Given the description of an element on the screen output the (x, y) to click on. 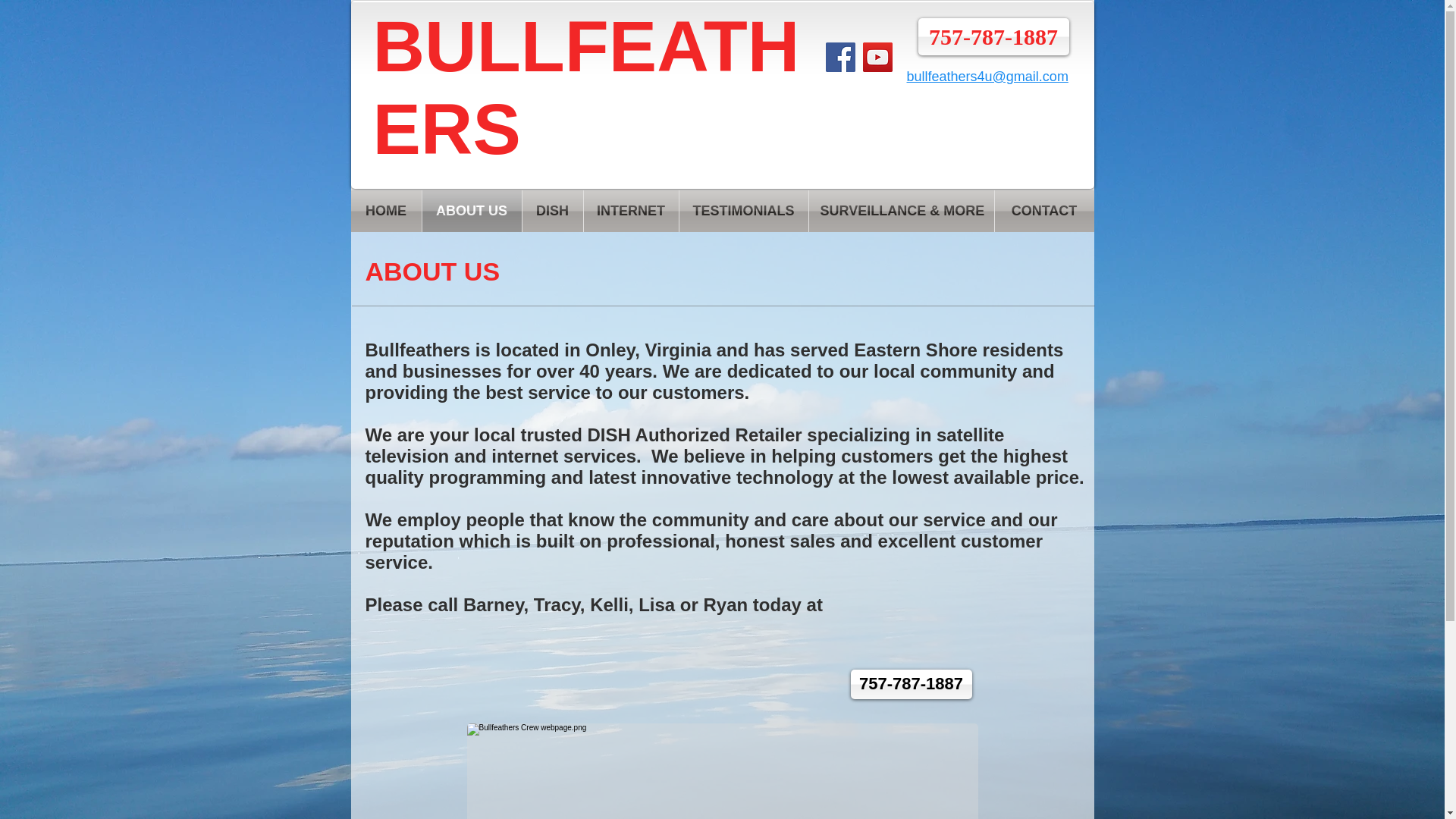
HOME (385, 210)
DISH (551, 210)
TESTIMONIALS (743, 210)
ABOUT US (471, 210)
757-787-1887 (992, 36)
757-787-1887 (911, 684)
CONTACT (1044, 210)
INTERNET (630, 210)
